Given the description of an element on the screen output the (x, y) to click on. 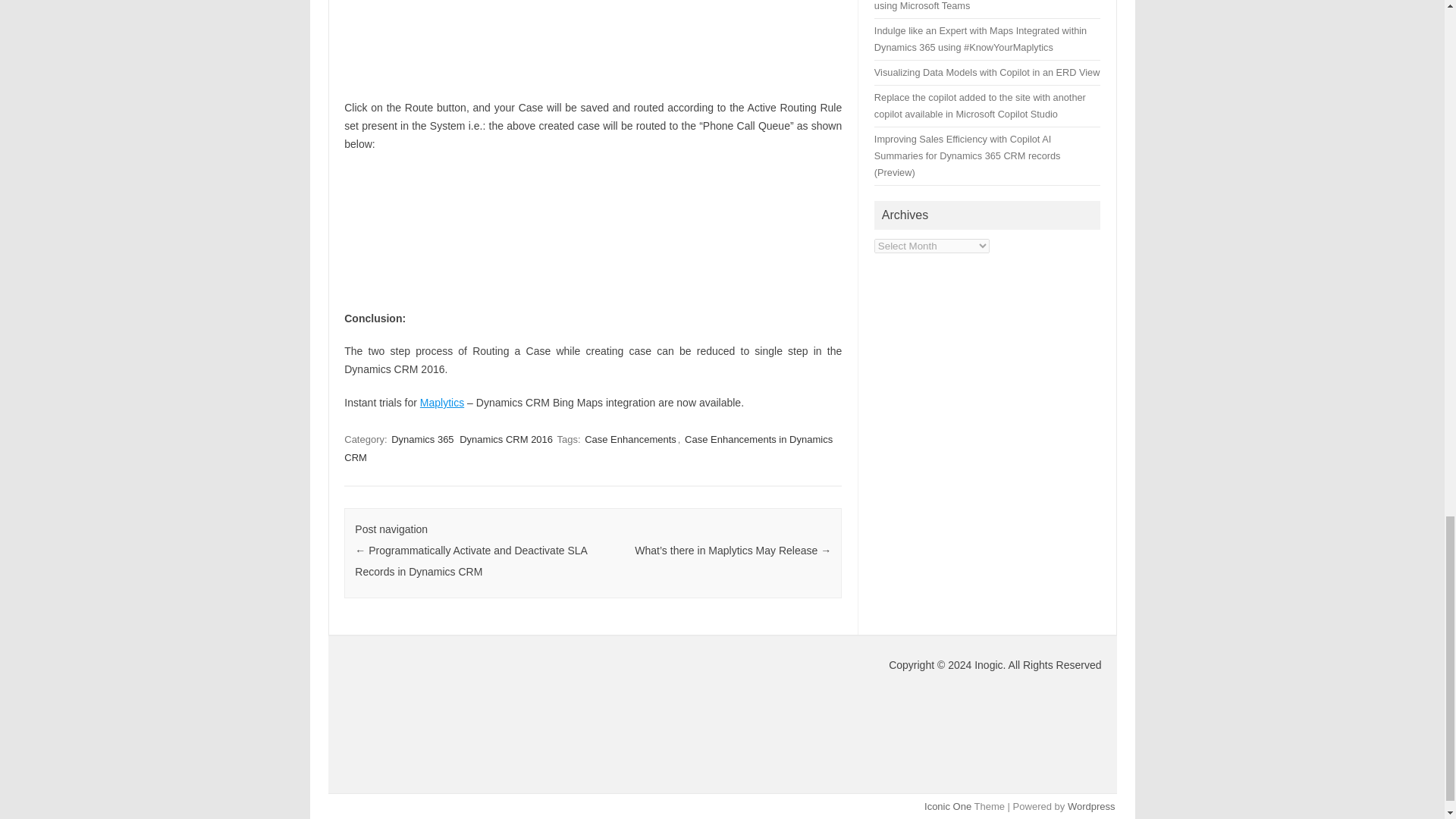
SiteLock (461, 711)
